Given the description of an element on the screen output the (x, y) to click on. 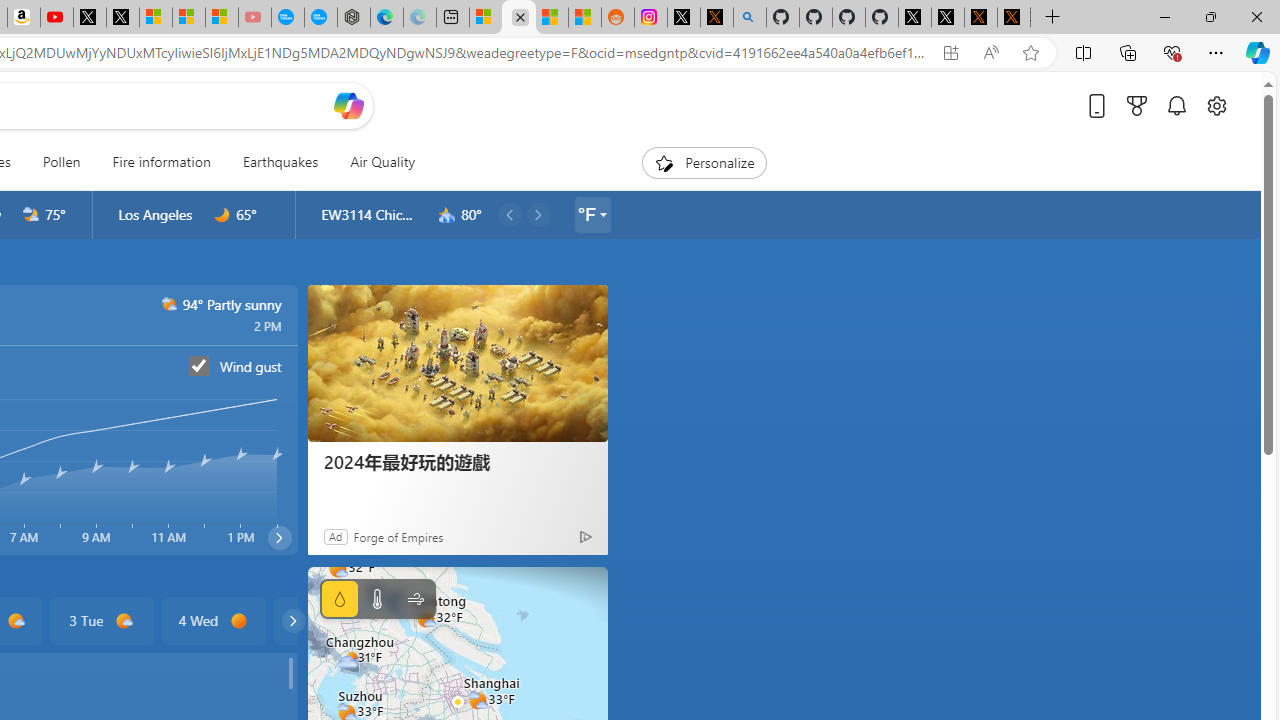
Forge of Empires (397, 536)
Pollen (61, 162)
common/carouselChevron (293, 620)
Precipitation (339, 599)
To get missing image descriptions, open the context menu. (664, 162)
4 Wed d0000 (213, 620)
common/carouselChevron (293, 620)
